Given the description of an element on the screen output the (x, y) to click on. 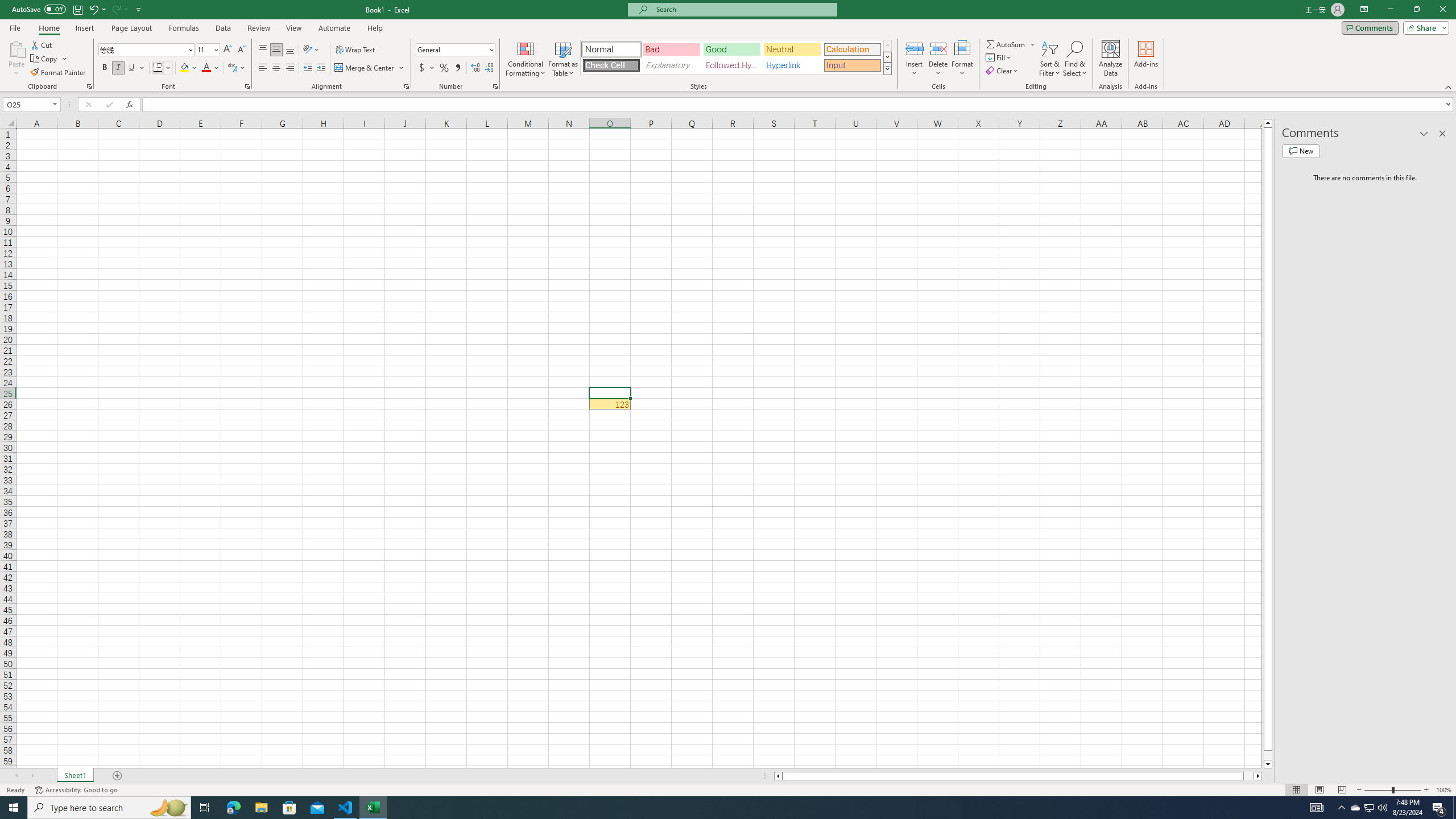
Borders (162, 67)
Accounting Number Format (422, 67)
Increase Decimal (474, 67)
Bottom Border (157, 67)
Decrease Decimal (489, 67)
Increase Indent (320, 67)
New comment (1300, 151)
Sum (1006, 44)
Number Format (451, 49)
Delete Cells... (938, 48)
Font (147, 49)
Calculation (852, 49)
